Given the description of an element on the screen output the (x, y) to click on. 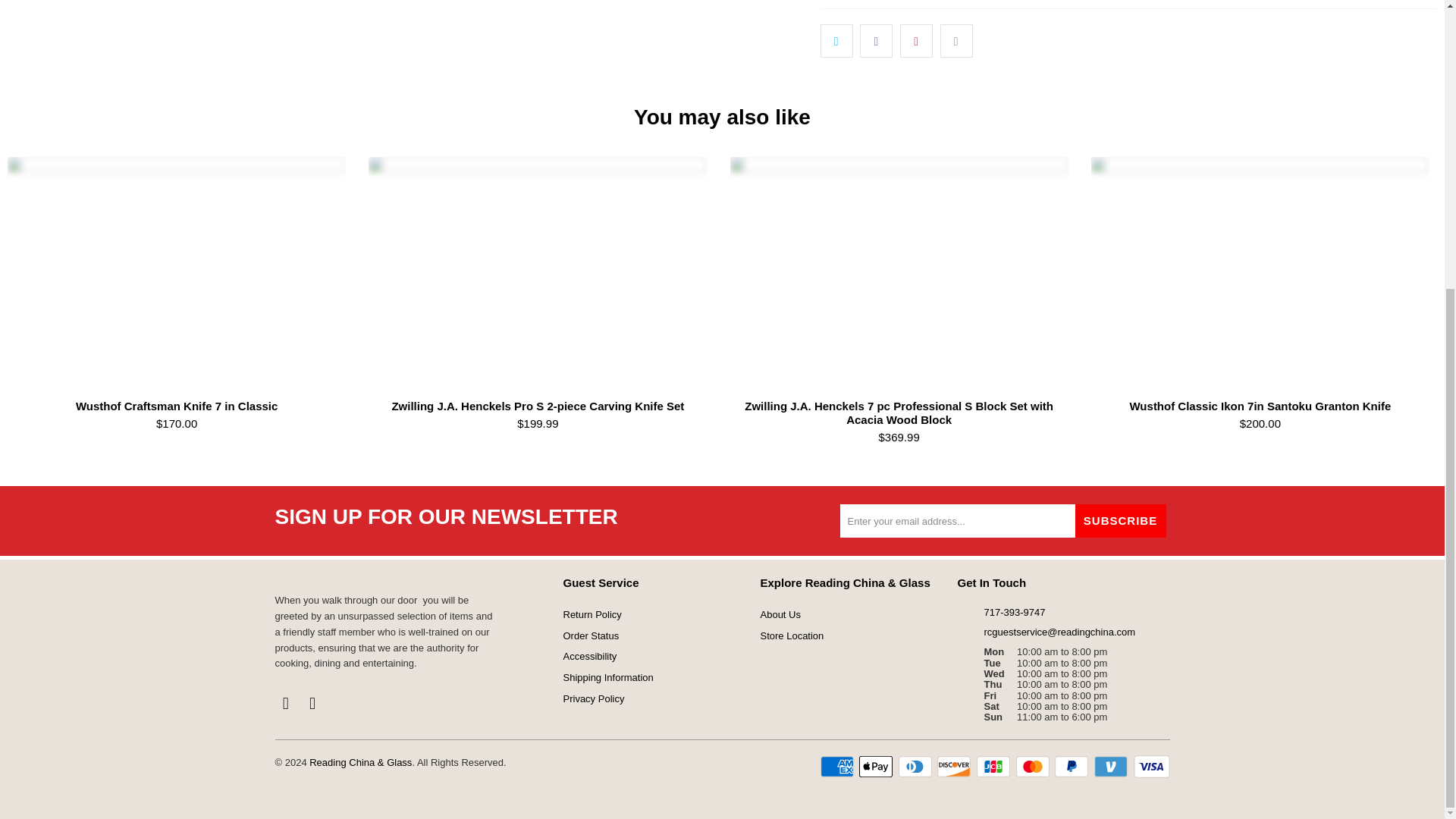
Discover (955, 766)
Share this on Twitter (837, 40)
American Express (839, 766)
Subscribe (1120, 520)
PayPal (1072, 766)
Mastercard (1034, 766)
Venmo (1112, 766)
Visa (1150, 766)
Share this on Pinterest (916, 40)
Share this on Facebook (876, 40)
